Given the description of an element on the screen output the (x, y) to click on. 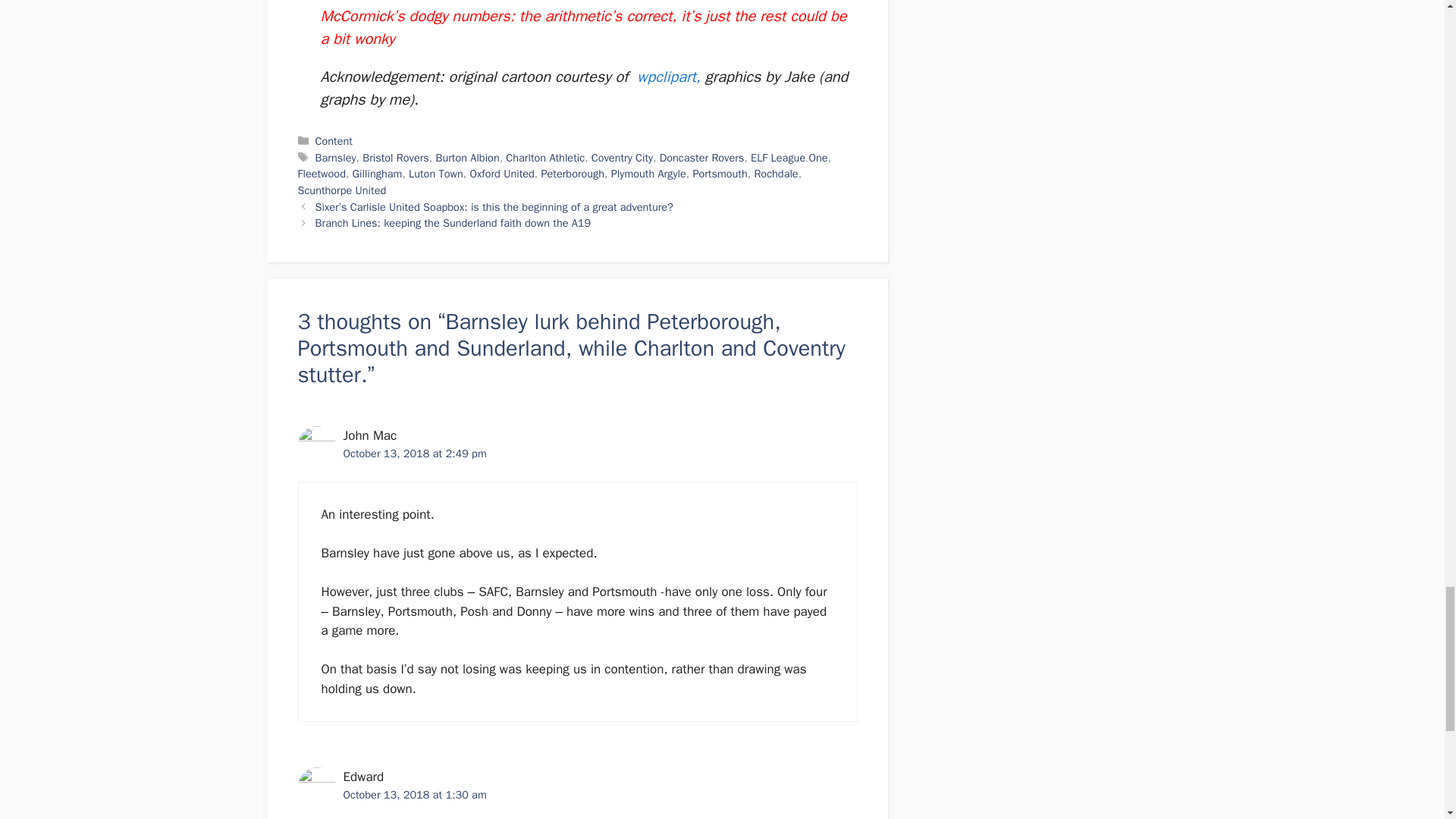
Luton Town (436, 173)
Content (333, 141)
Peterborough (573, 173)
Fleetwood (321, 173)
Doncaster Rovers (701, 157)
Bristol Rovers (395, 157)
Gillingham (377, 173)
ELF League One (789, 157)
Oxford United (501, 173)
October 13, 2018 at 2:49 pm (414, 453)
Plymouth Argyle (648, 173)
Portsmouth (719, 173)
wpclipart, (668, 76)
Coventry City (621, 157)
Charlton Athletic (545, 157)
